Given the description of an element on the screen output the (x, y) to click on. 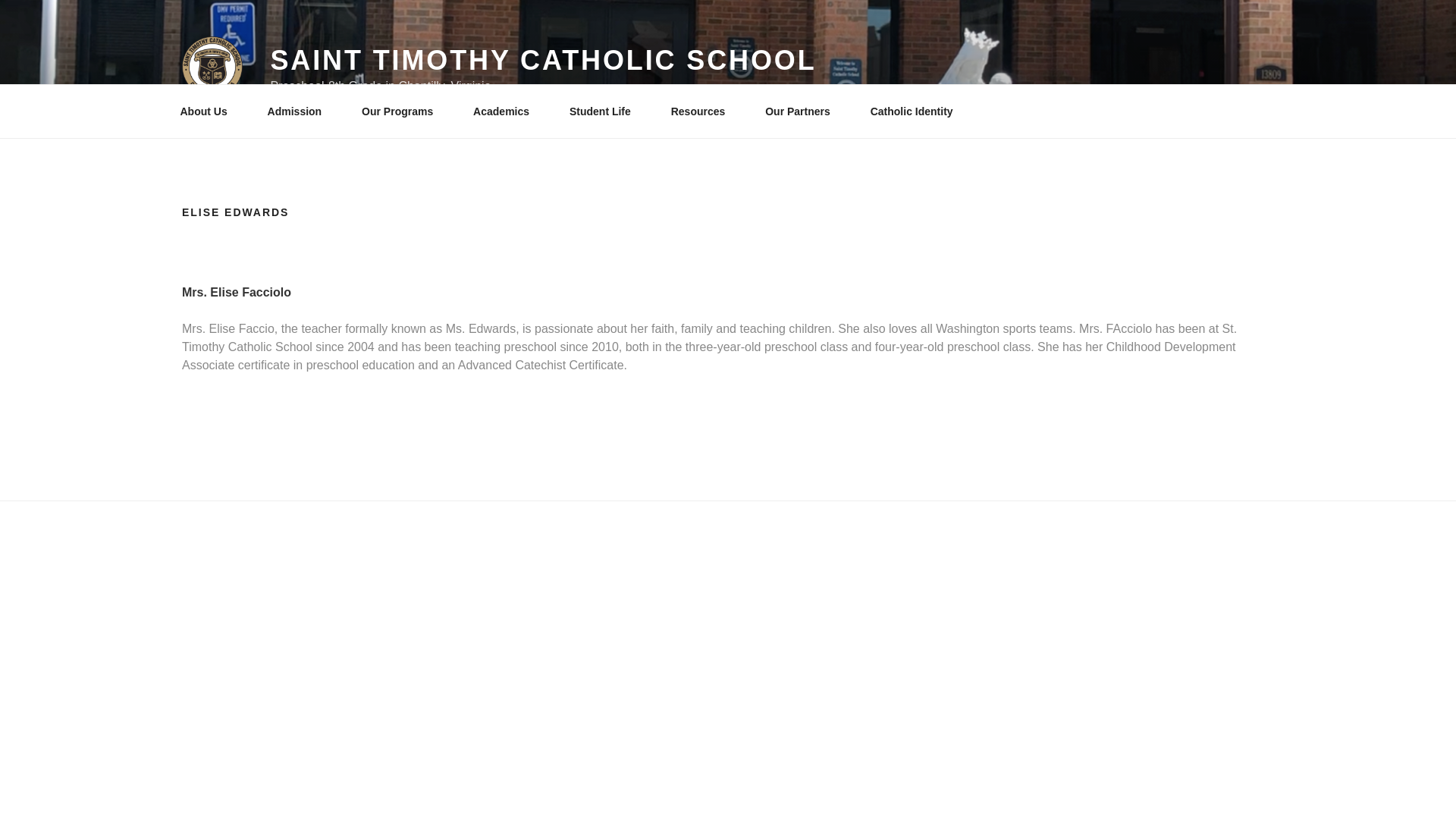
Academics (506, 110)
SAINT TIMOTHY CATHOLIC SCHOOL (542, 60)
Resources (703, 110)
Our Programs (403, 110)
Admission (299, 110)
Student Life (604, 110)
About Us (208, 110)
Our Partners (803, 110)
